Given the description of an element on the screen output the (x, y) to click on. 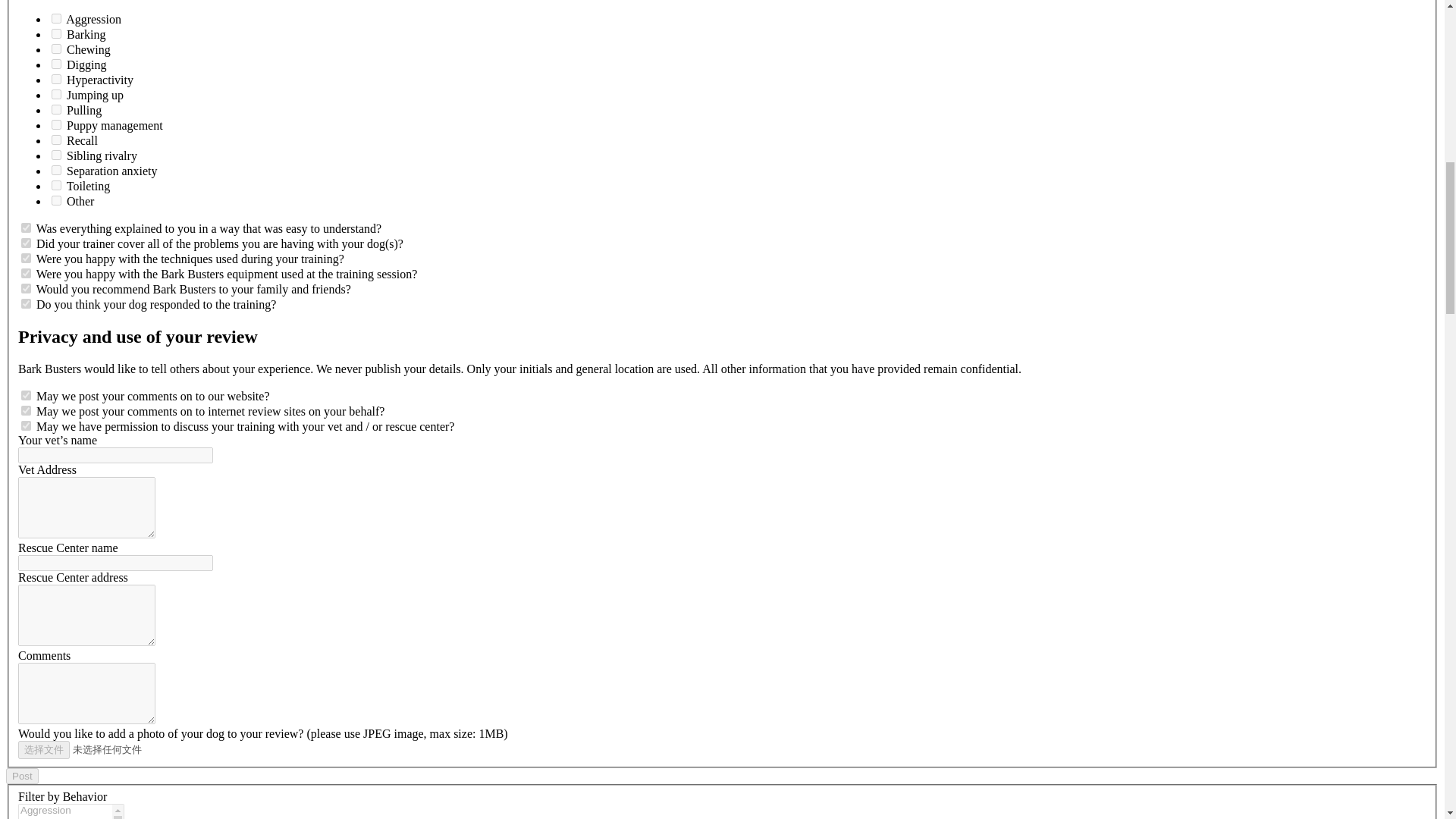
Post (22, 775)
4 (55, 63)
5 (55, 79)
2 (55, 33)
8 (55, 124)
7 (55, 109)
3 (55, 49)
Filter by Behavior (70, 811)
6 (55, 94)
1 (55, 18)
